Given the description of an element on the screen output the (x, y) to click on. 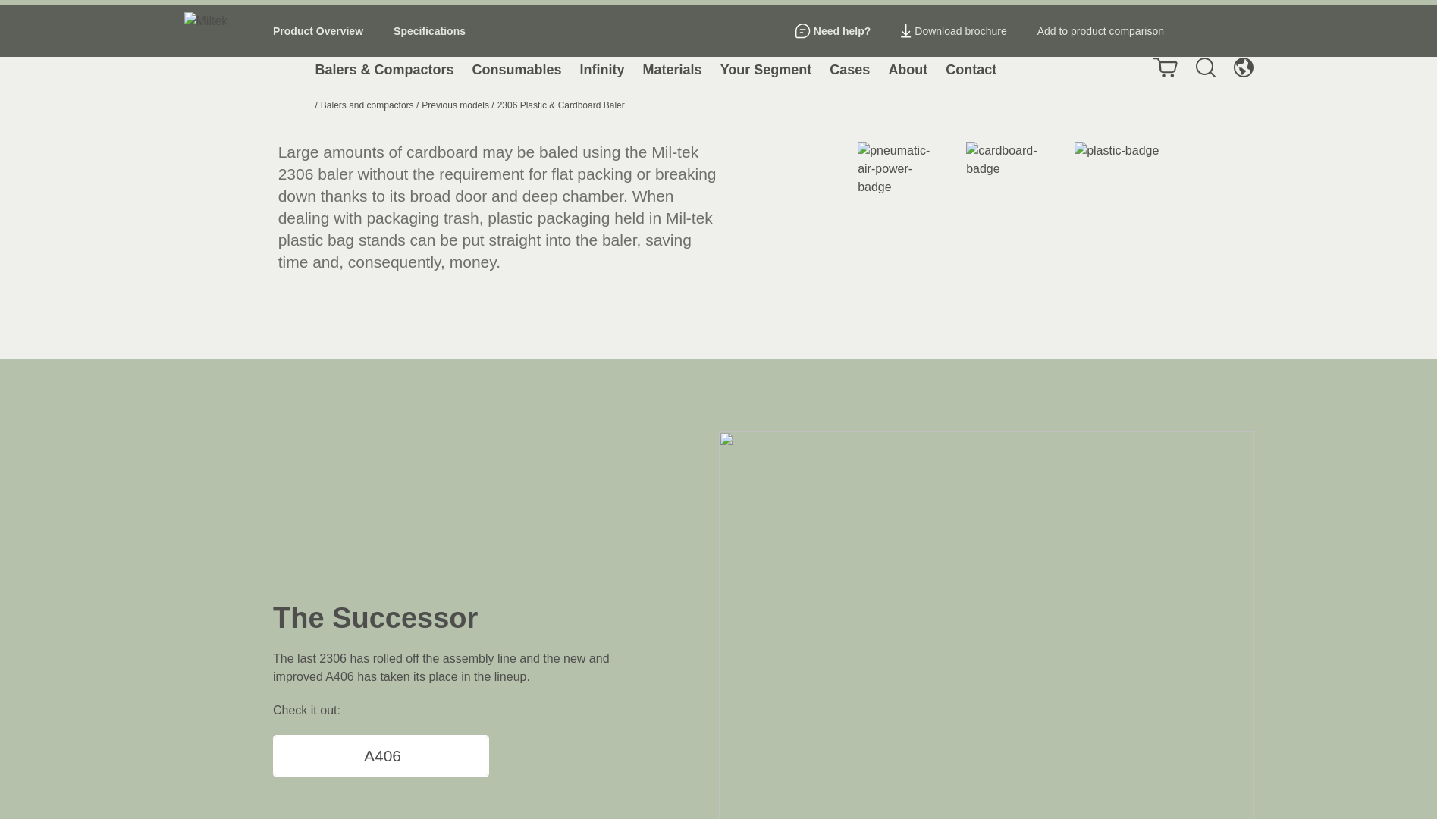
Need help? (832, 31)
Product Overview (317, 31)
Download brochure (953, 31)
Specifications (429, 31)
Add to product comparison (1099, 31)
